Given the description of an element on the screen output the (x, y) to click on. 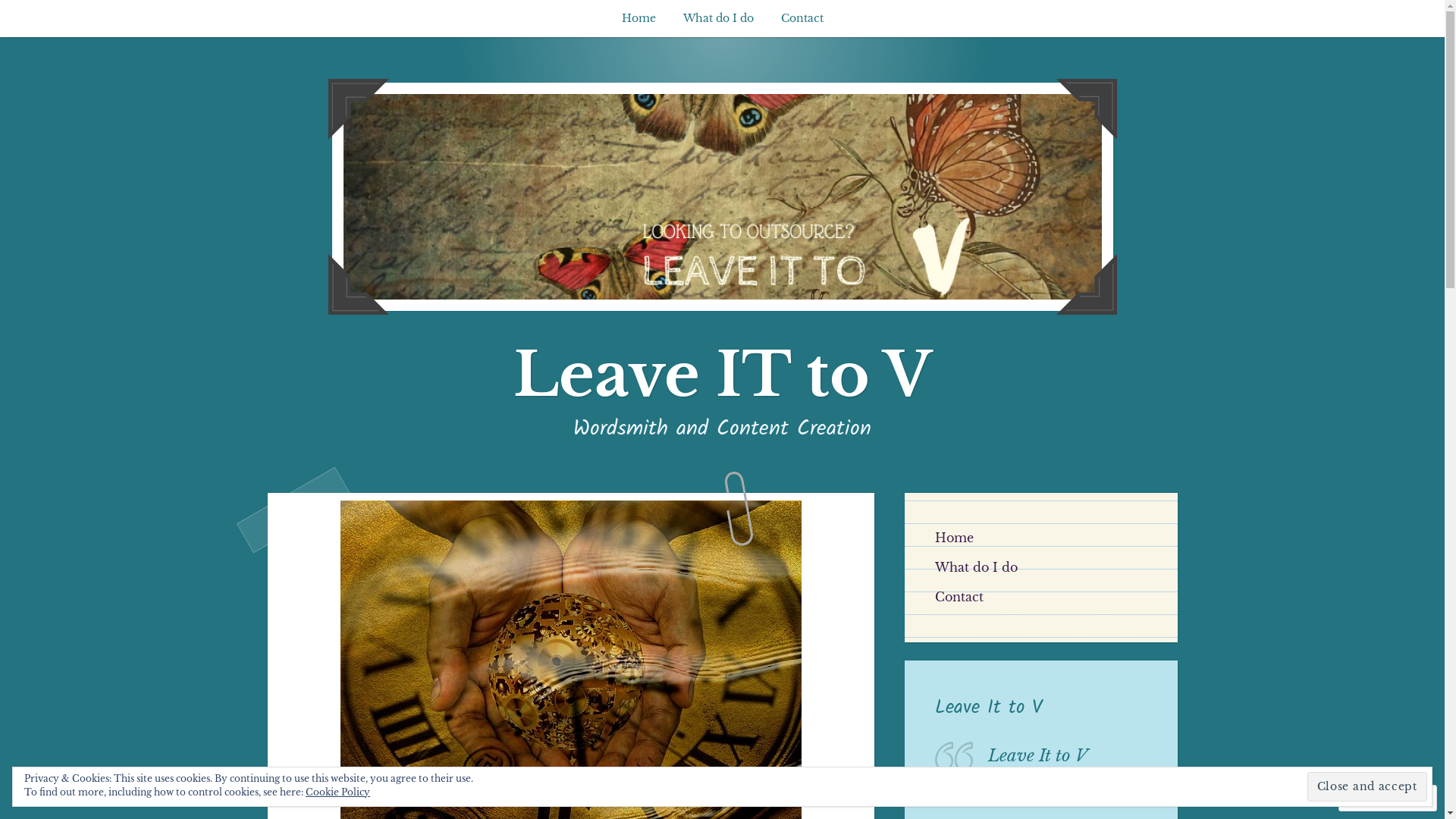
What do I do Element type: text (975, 566)
Leave It to V Element type: text (987, 707)
Cookie Policy Element type: text (337, 791)
Home Element type: text (638, 18)
Leave IT to V Element type: text (721, 374)
Contact Element type: text (801, 18)
Home Element type: text (953, 537)
What do I do Element type: text (717, 18)
Contact Element type: text (958, 596)
Leave It to V Element type: text (1037, 755)
Follow Element type: text (1372, 797)
Close and accept Element type: text (1367, 786)
